Given the description of an element on the screen output the (x, y) to click on. 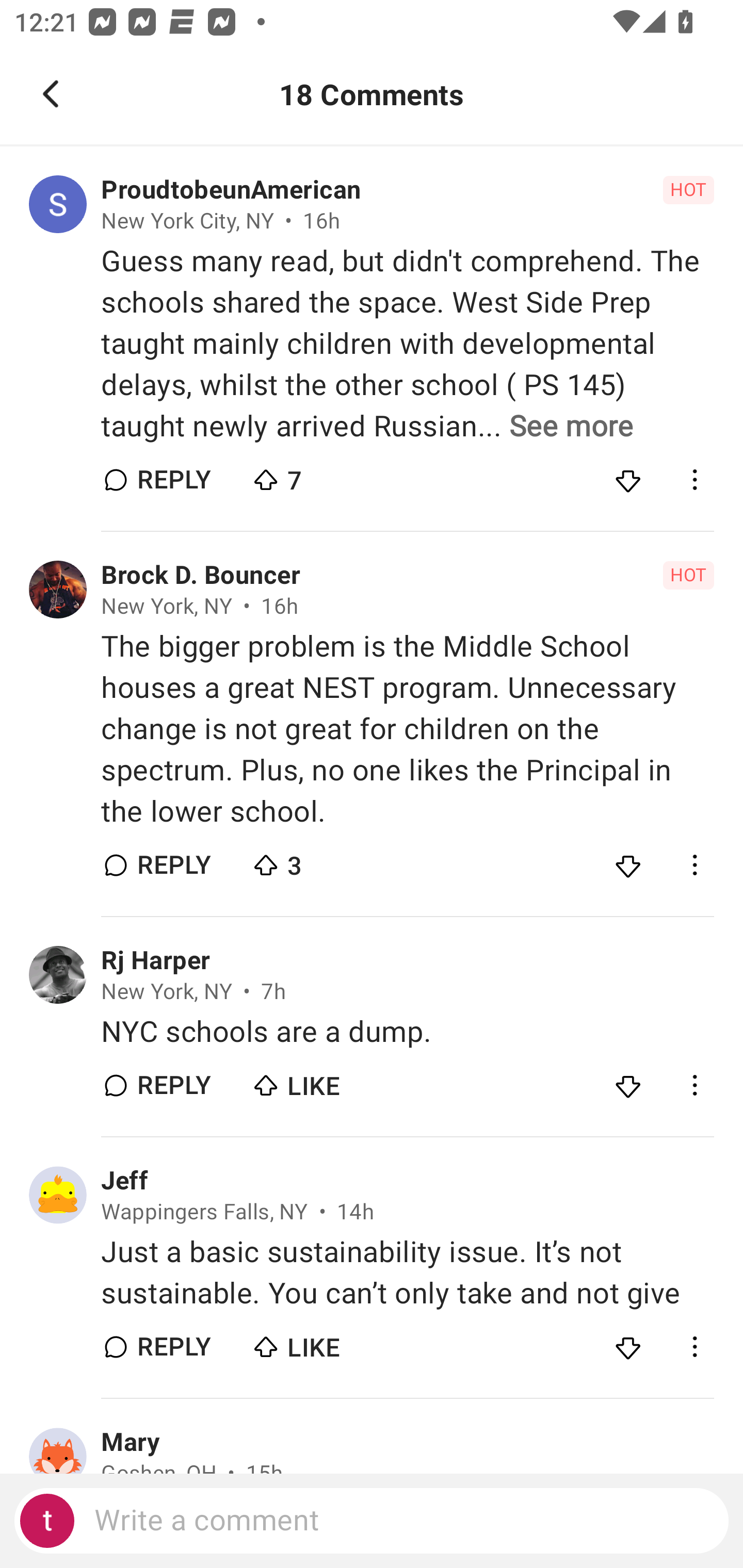
Navigate up (50, 93)
ProudtobeunAmerican (231, 190)
7 (320, 475)
REPLY (173, 480)
Brock D. Bouncer (200, 575)
3 (320, 860)
REPLY (173, 864)
Rj Harper (155, 960)
NYC schools are a dump. (407, 1031)
LIKE (320, 1080)
REPLY (173, 1085)
Jeff (124, 1180)
LIKE (320, 1342)
REPLY (173, 1346)
Mary (130, 1442)
Write a comment (371, 1520)
